Given the description of an element on the screen output the (x, y) to click on. 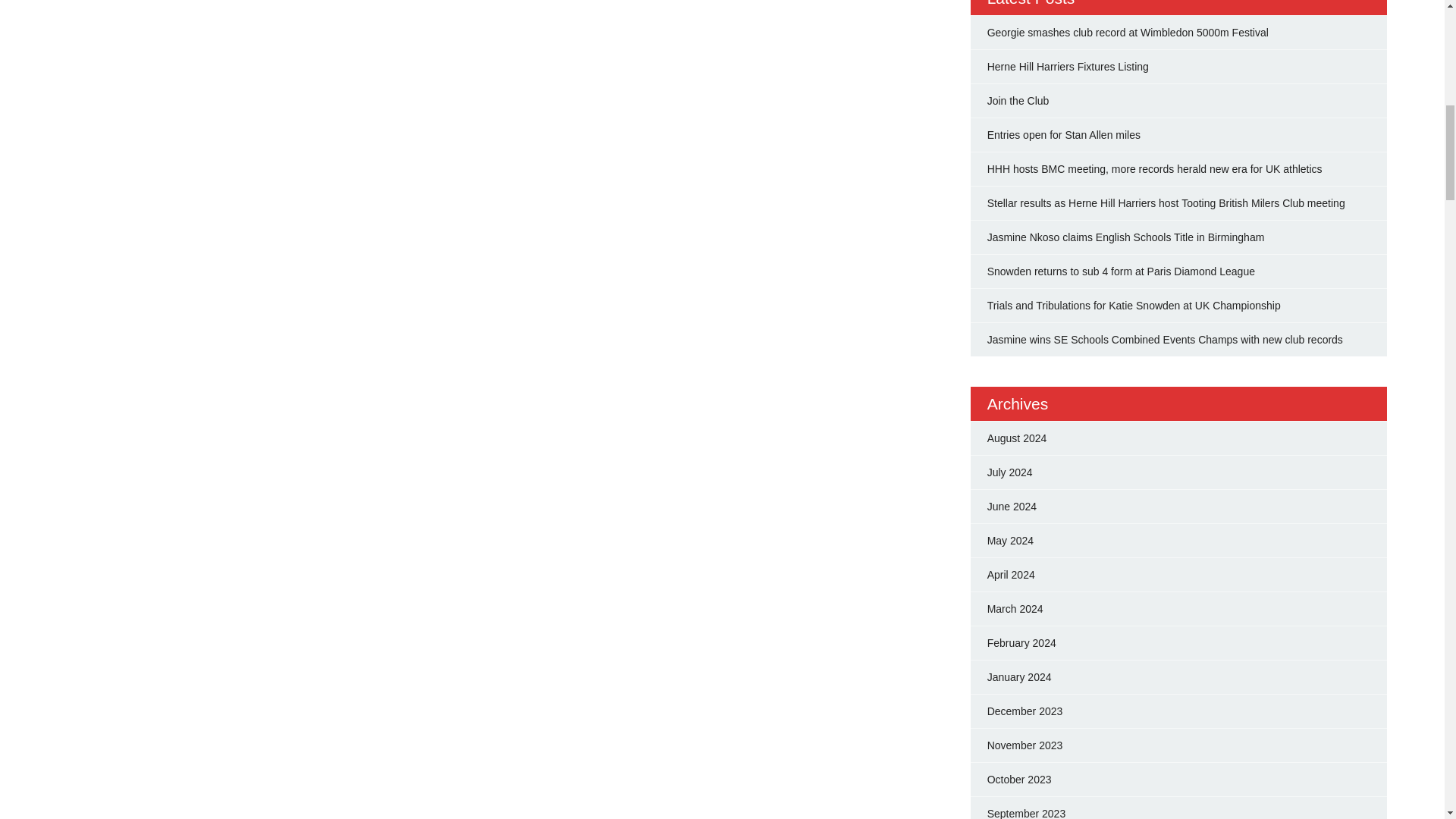
Look Join the Club (1018, 101)
Look Entries open for Stan Allen miles (1063, 134)
Look Georgie smashes club record at Wimbledon 5000m Festival (1127, 32)
Look Herne Hill Harriers Fixtures Listing (1067, 66)
